Given the description of an element on the screen output the (x, y) to click on. 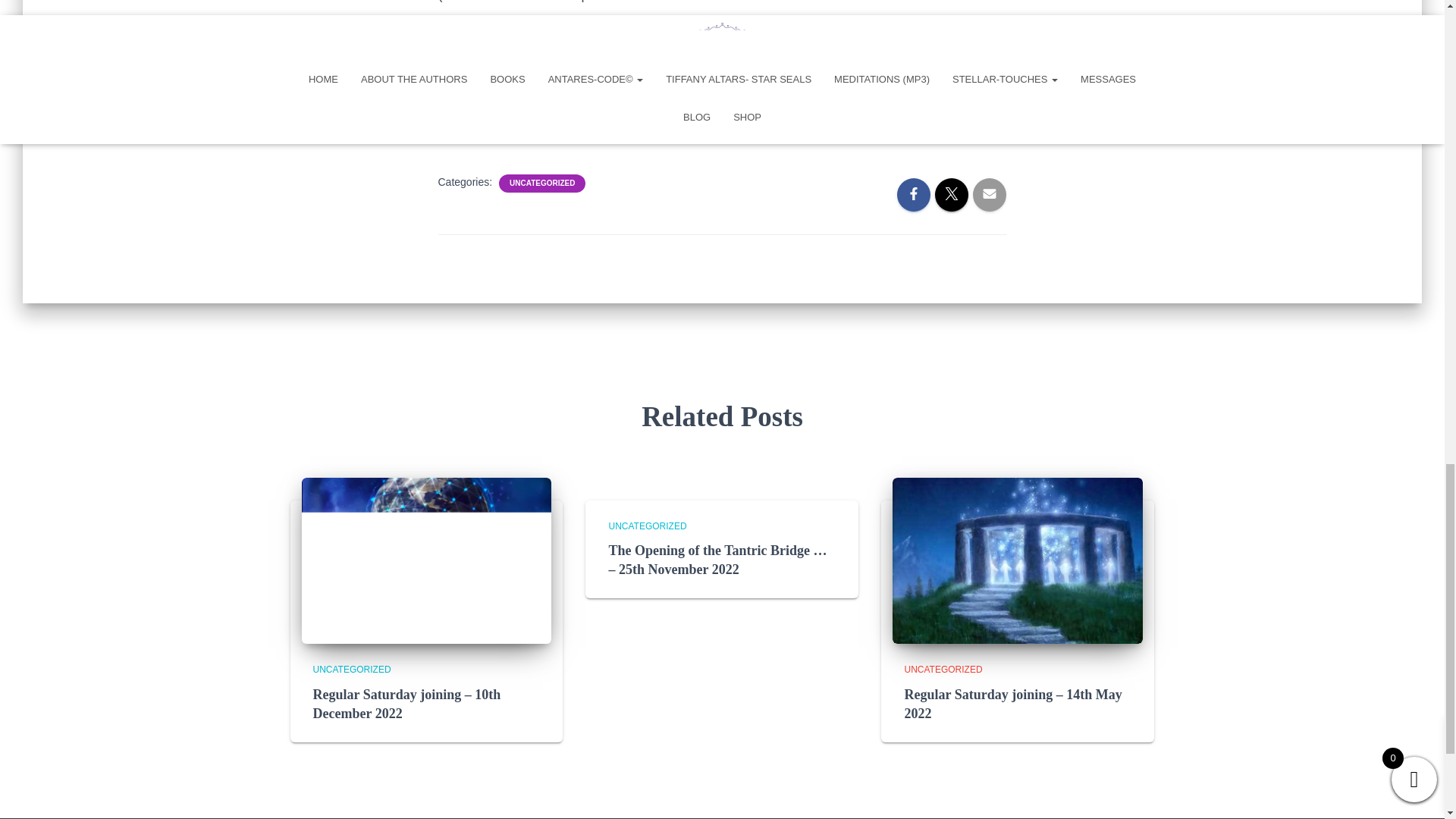
UNCATEGORIZED (351, 669)
UNCATEGORIZED (542, 183)
UNCATEGORIZED (646, 525)
